Given the description of an element on the screen output the (x, y) to click on. 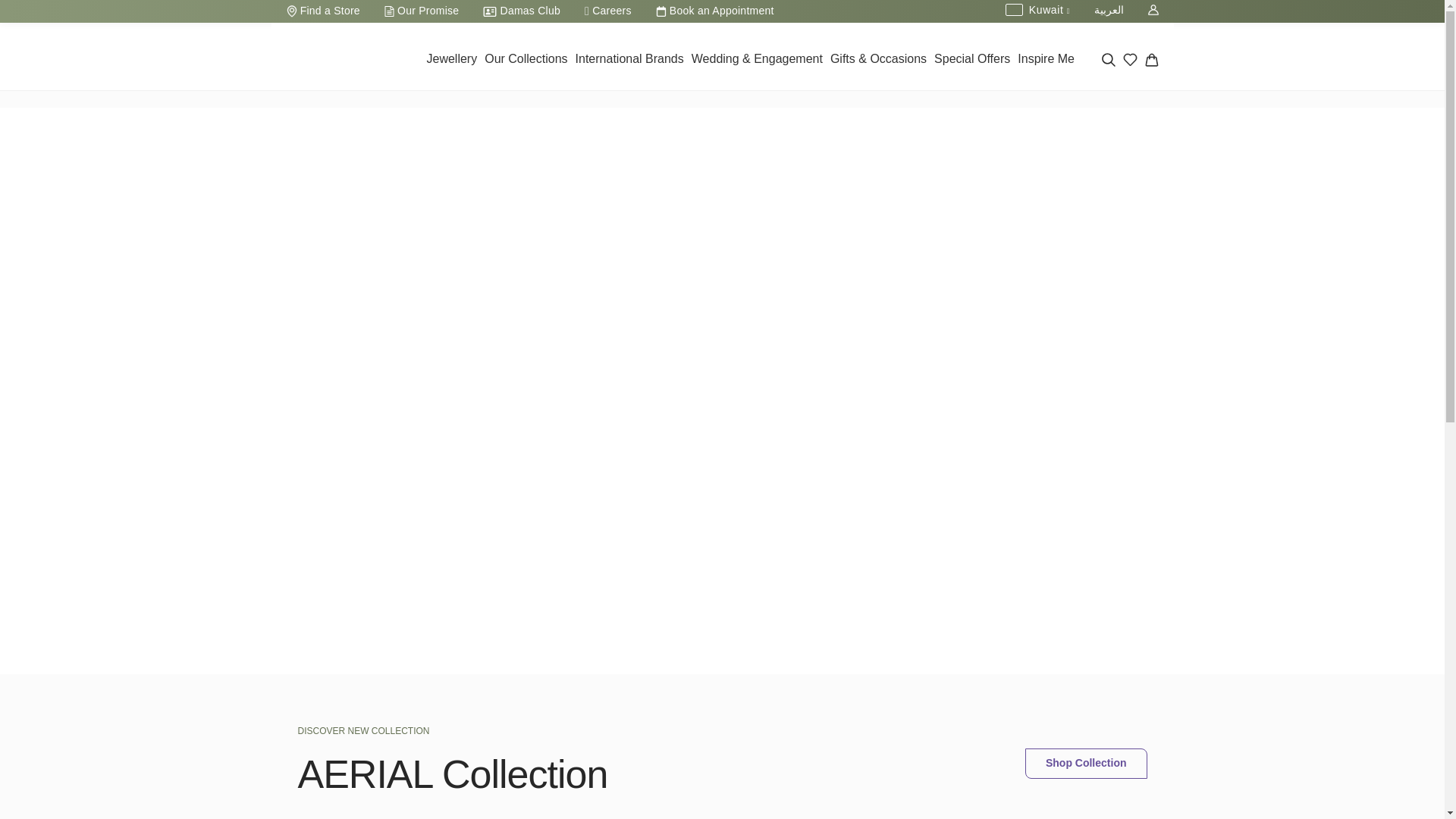
Careers (607, 11)
Find a Store (323, 11)
Book an Appointment (714, 11)
Our Promise (421, 11)
Damas Club (521, 11)
Jewellery (451, 61)
